Given the description of an element on the screen output the (x, y) to click on. 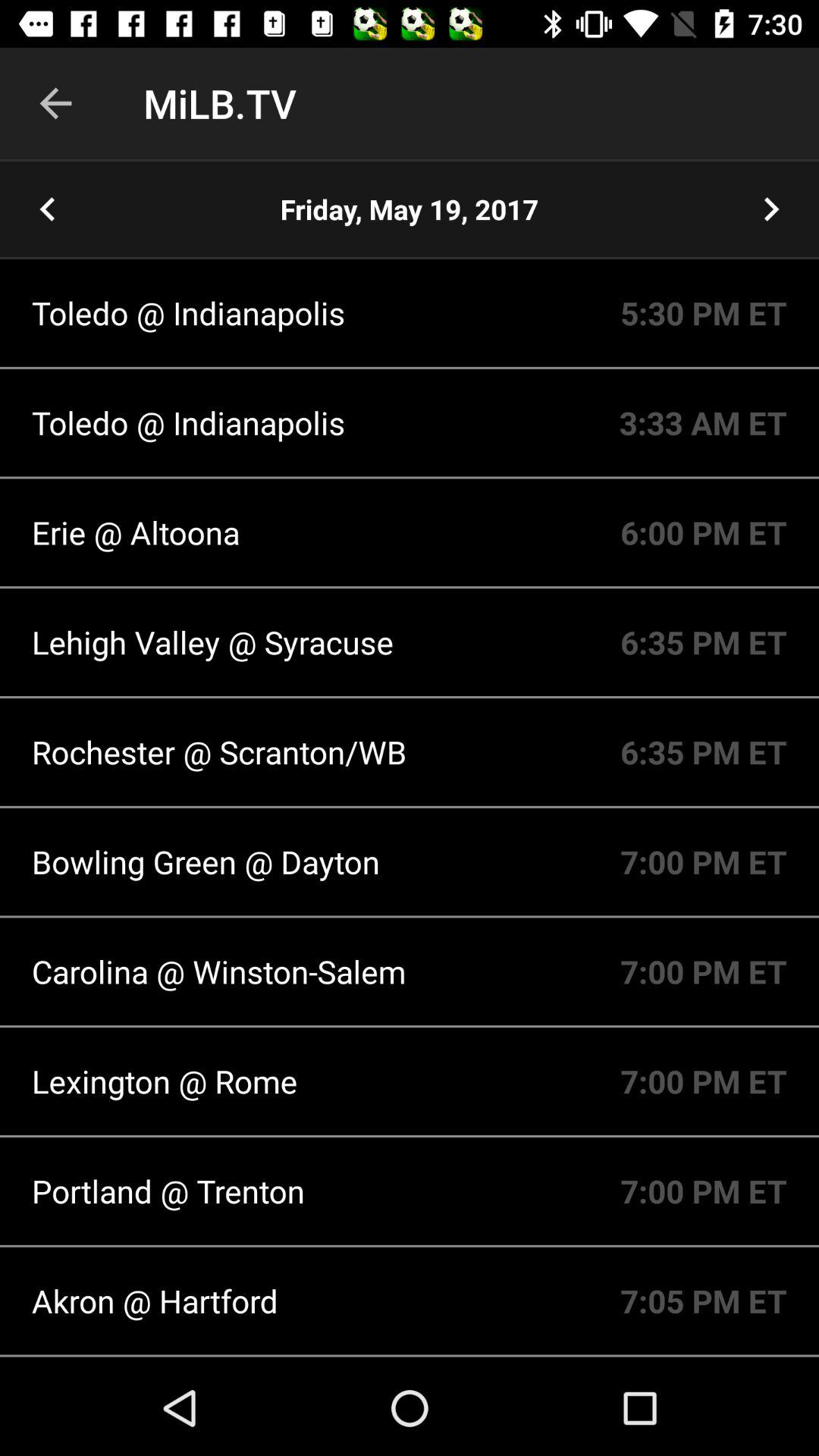
launch the friday may 19 item (409, 209)
